Given the description of an element on the screen output the (x, y) to click on. 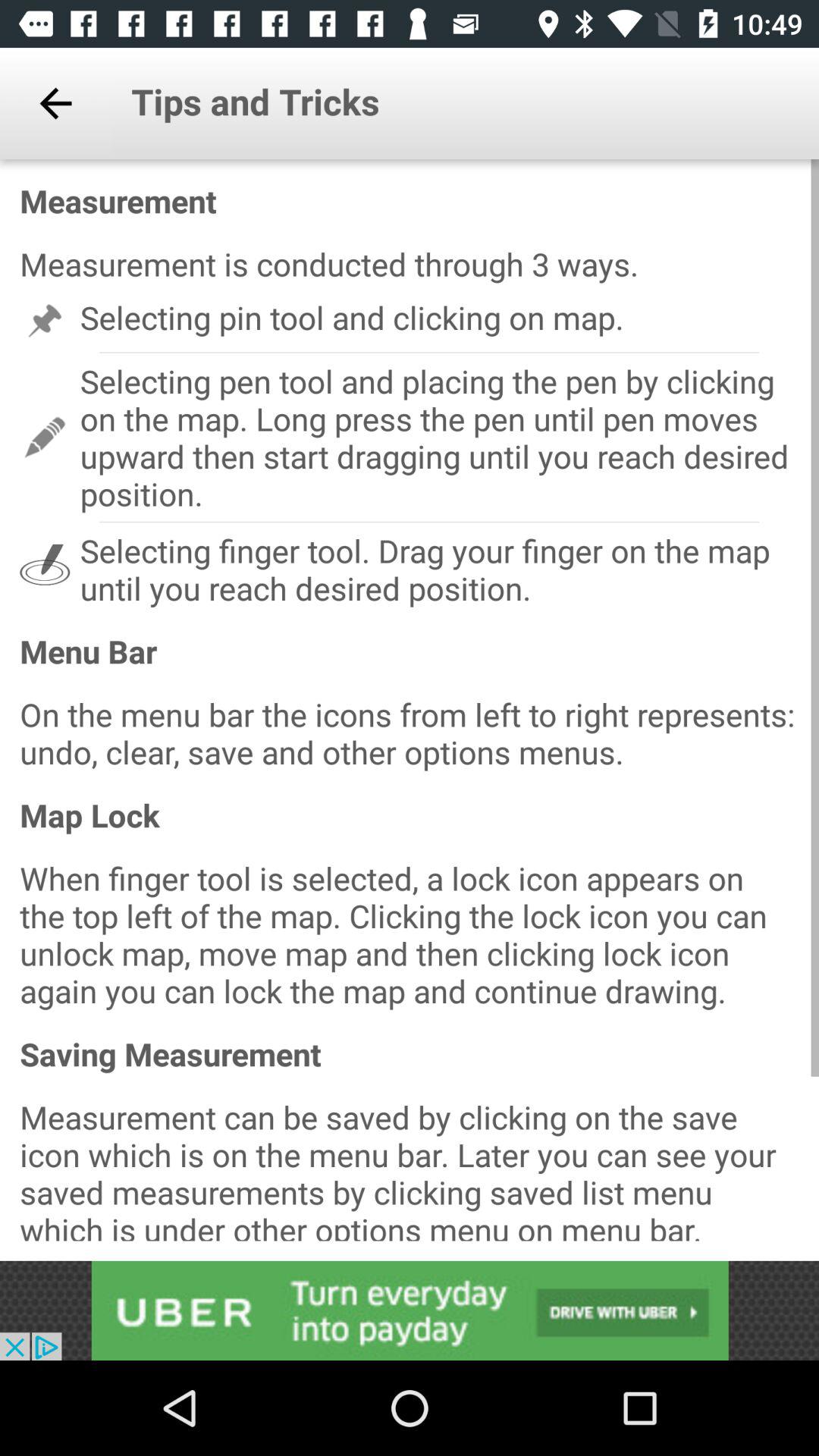
advertisement banner (409, 1310)
